Given the description of an element on the screen output the (x, y) to click on. 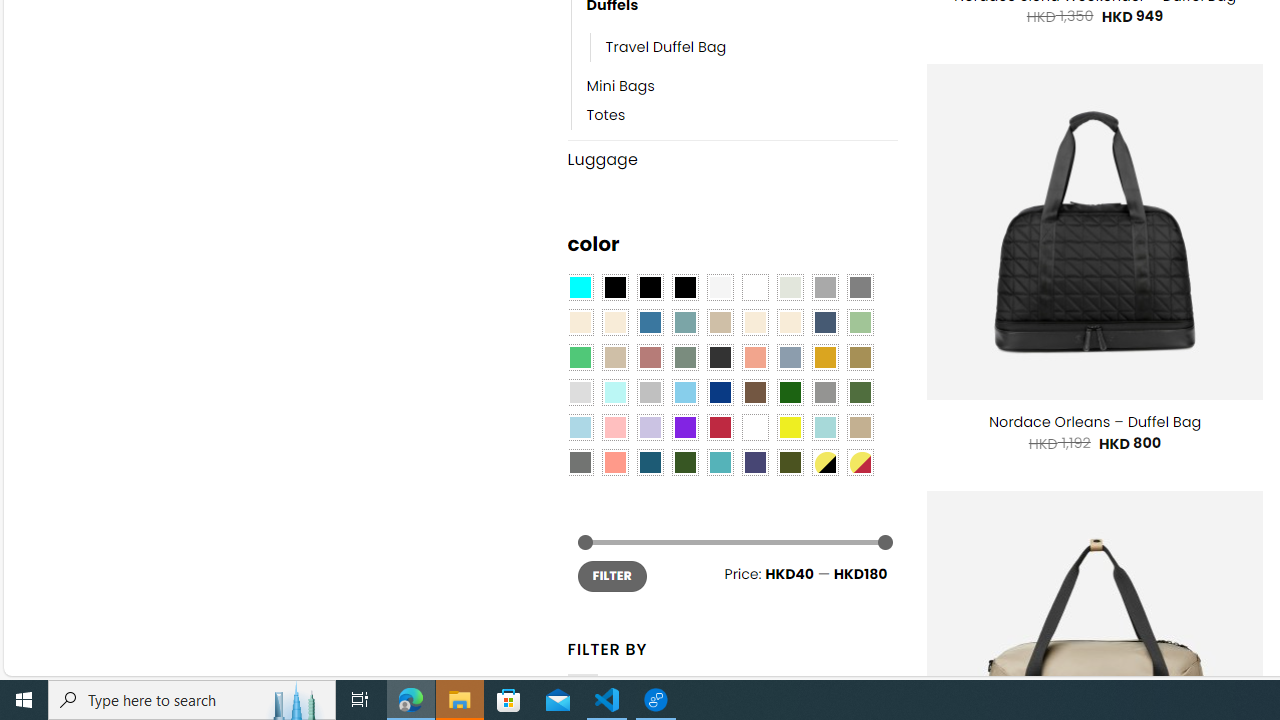
Aqua Blue (579, 287)
Beige-Brown (614, 323)
Black (650, 287)
Luggage (732, 159)
Yellow (789, 427)
Brown (755, 393)
Charcoal (719, 357)
Army Green (789, 462)
Emerald Green (579, 357)
Pearly White (719, 287)
Light Green (859, 323)
Mini Bags (742, 87)
Light Taupe (614, 357)
Gold (824, 357)
Mini Bags (620, 87)
